Given the description of an element on the screen output the (x, y) to click on. 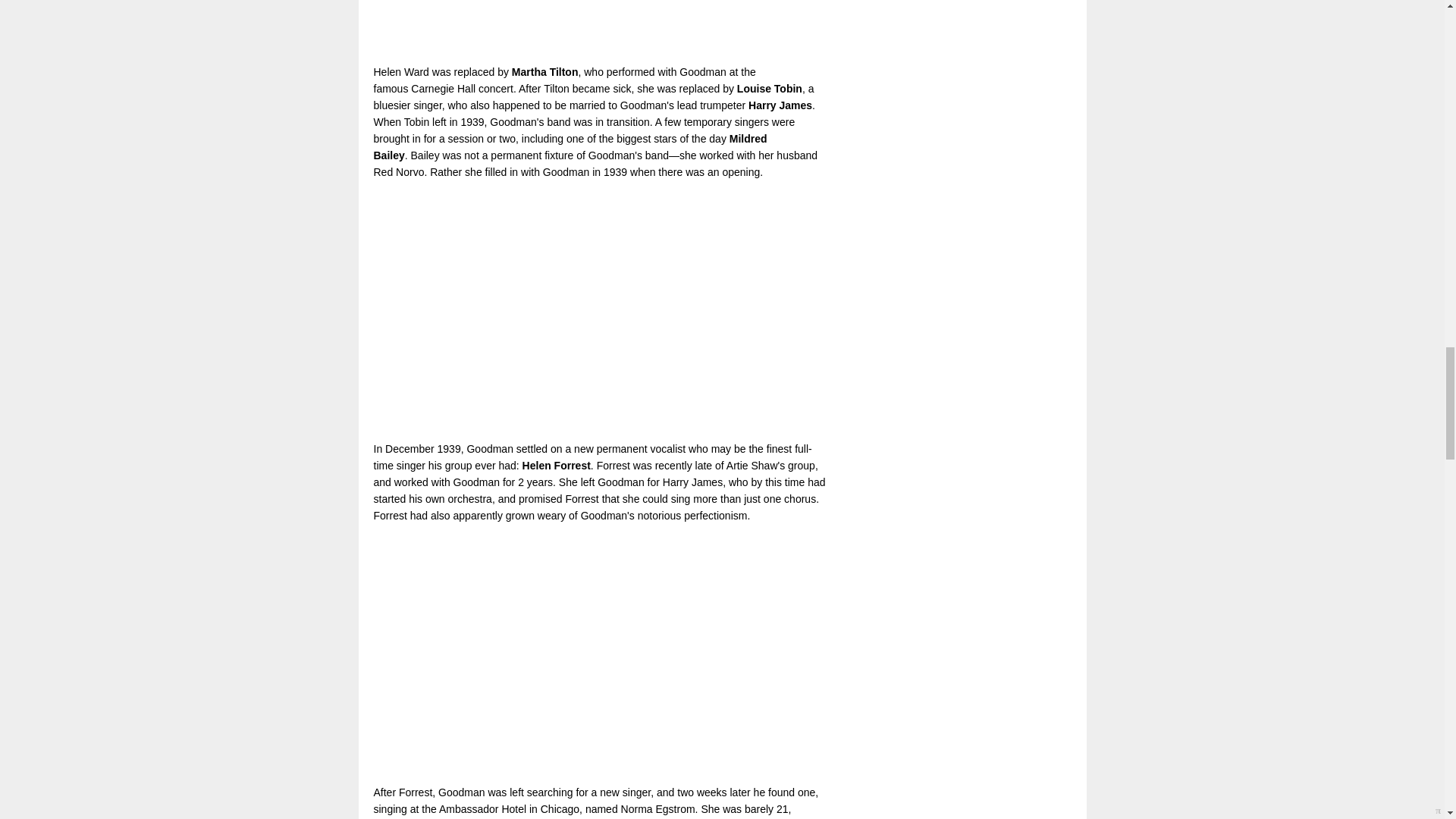
YouTube video player (584, 653)
YouTube video player (584, 309)
YouTube video player (584, 26)
